Given the description of an element on the screen output the (x, y) to click on. 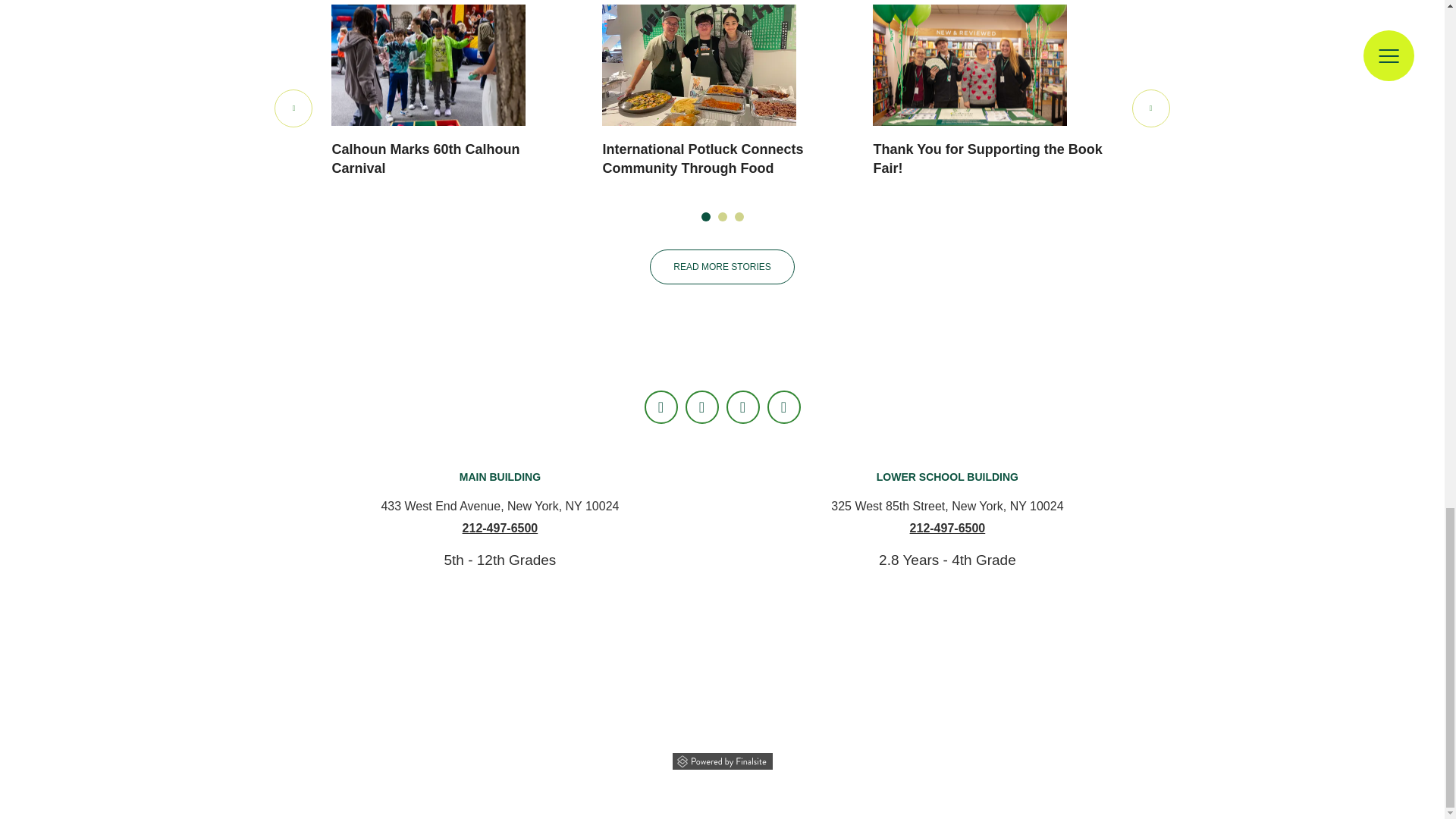
Powered by Finalsite opens in a new window (722, 759)
Calhoun Marks 60th Calhoun Carnival (428, 65)
Thank You for Supporting the Book Fair! (969, 65)
International Potluck Connects Community Through Food (699, 65)
